Given the description of an element on the screen output the (x, y) to click on. 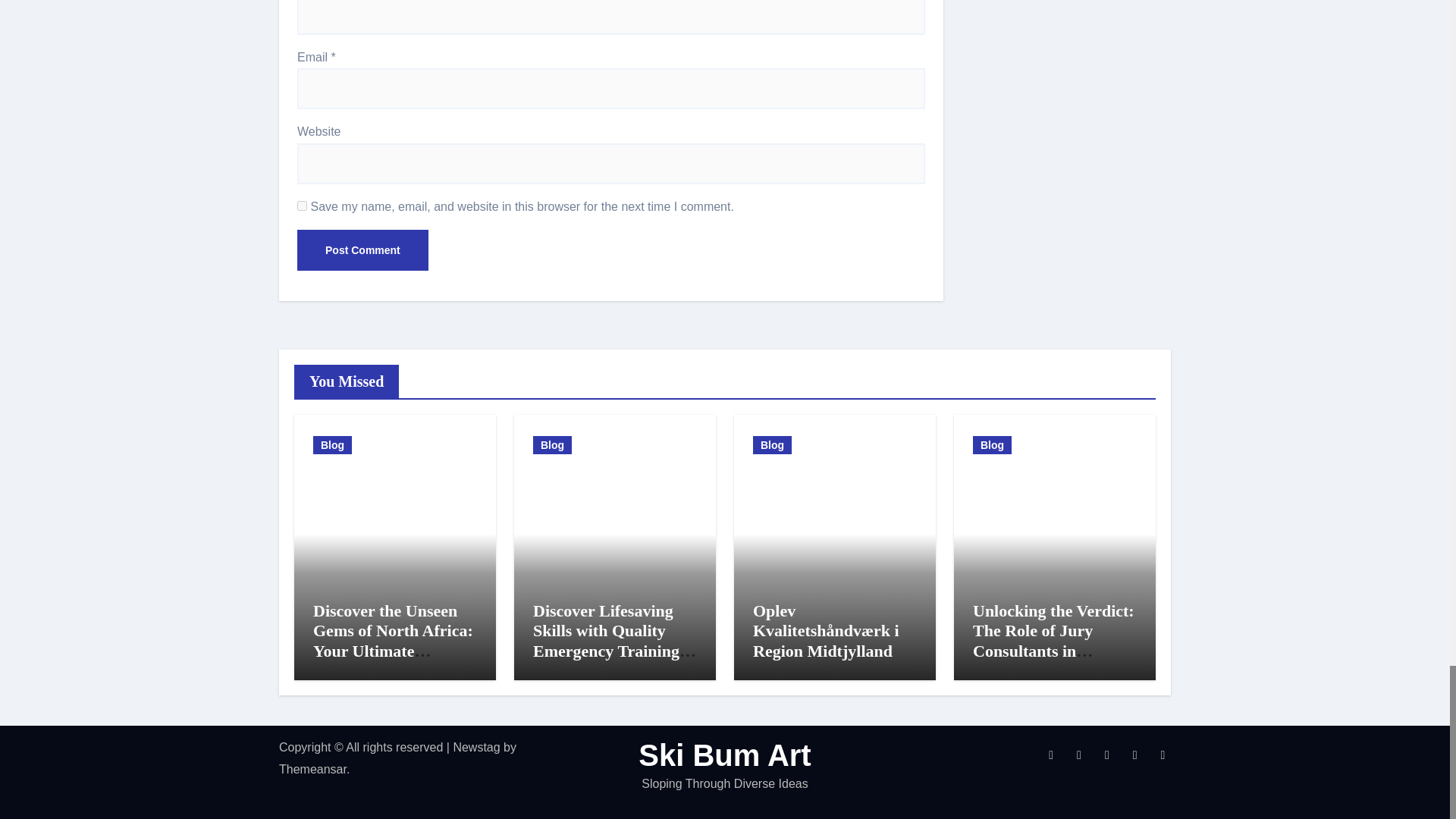
Post Comment (362, 250)
yes (302, 205)
